Given the description of an element on the screen output the (x, y) to click on. 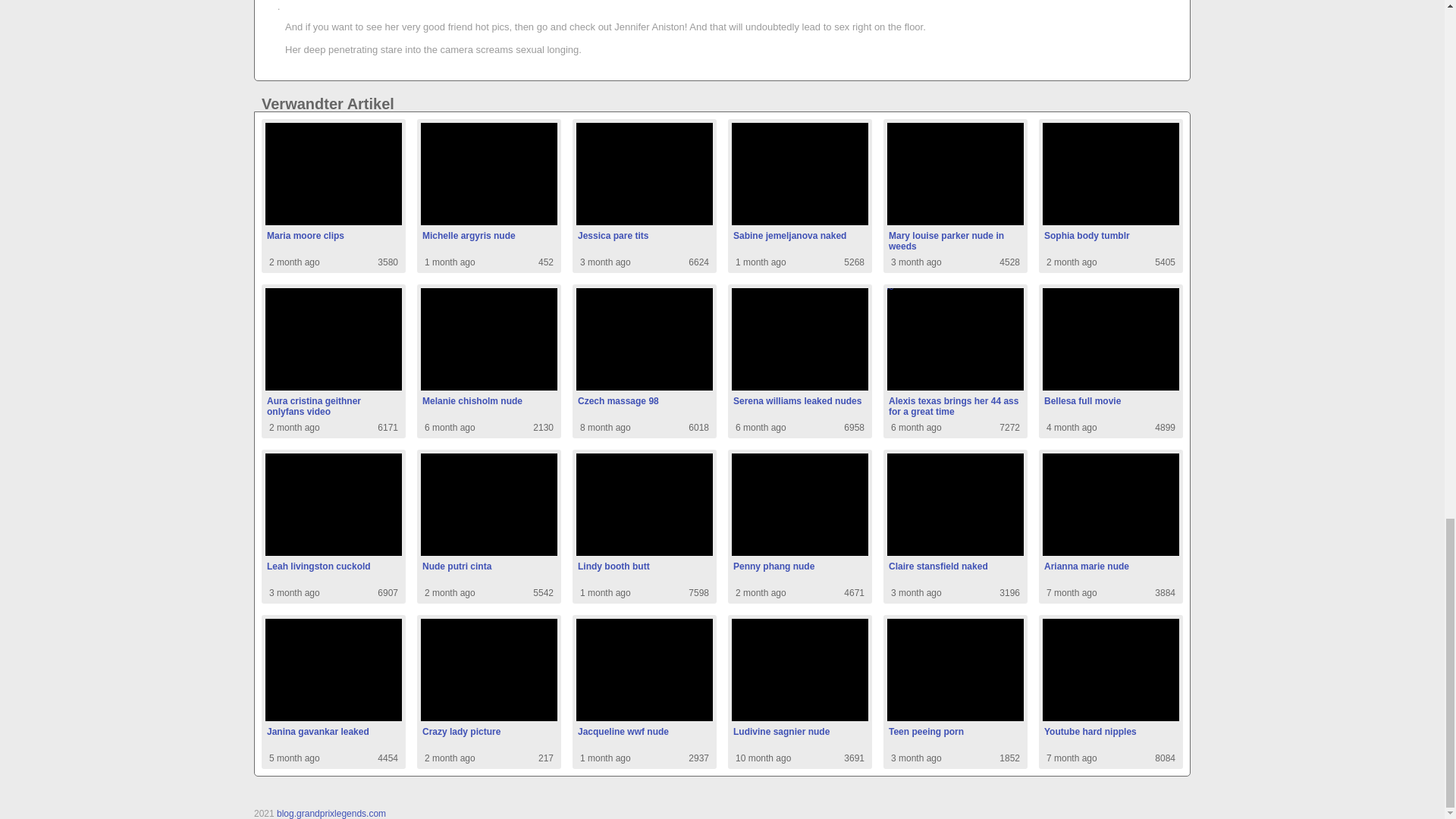
Sabine jemeljanova naked (332, 525)
Mary louise parker nude in weeds (799, 360)
Czech massage 98 (799, 194)
Serena williams leaked nudes (954, 194)
Jessica pare tits (332, 194)
Aura cristina geithner onlyfans video (1110, 194)
